Given the description of an element on the screen output the (x, y) to click on. 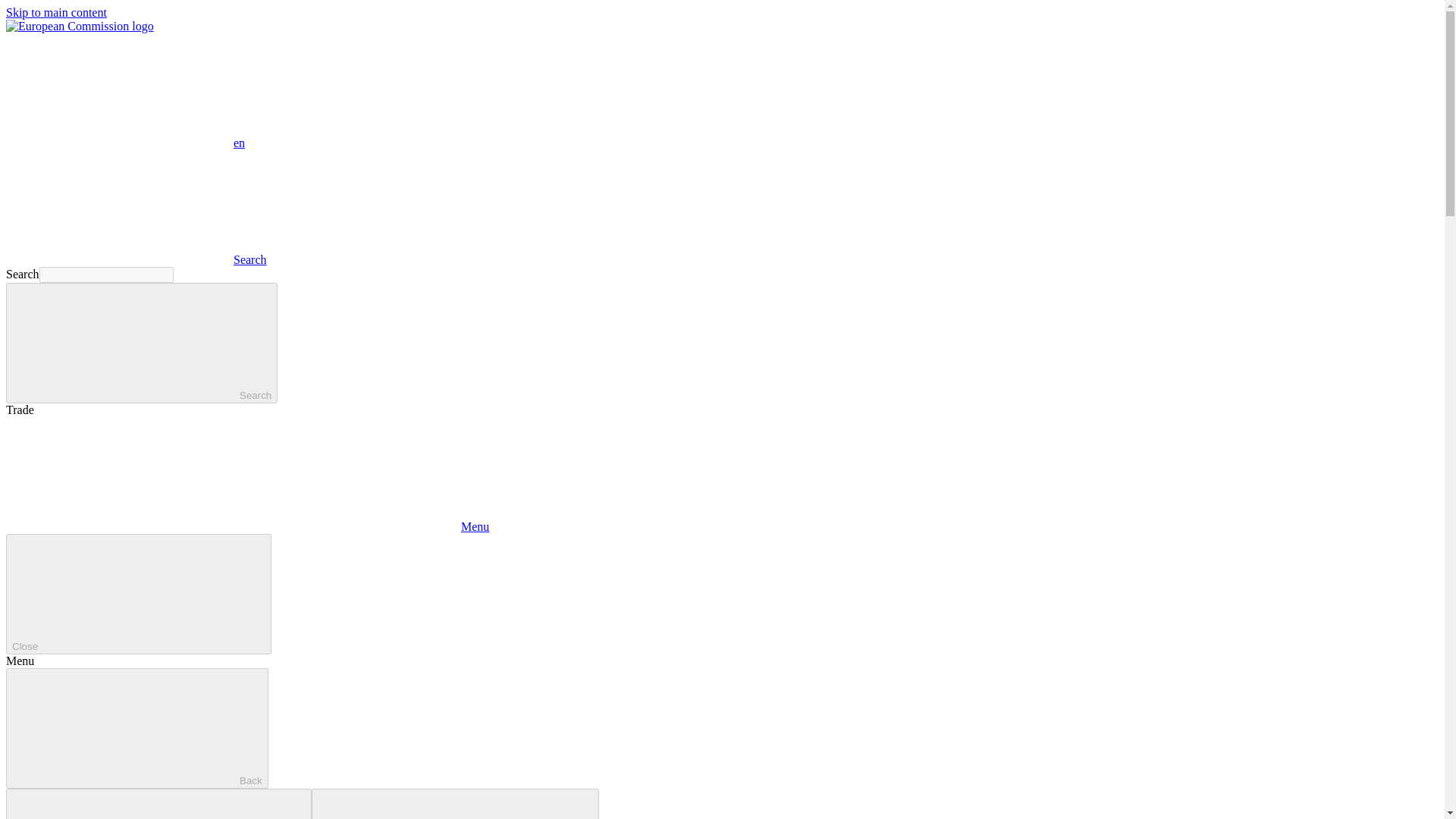
Search (141, 342)
Skip to main content (55, 11)
Menu (247, 526)
Next items (454, 803)
Close (137, 593)
Back (136, 728)
enen (124, 142)
Previous items (158, 803)
en (118, 90)
Search (135, 259)
European Commission (79, 25)
